Given the description of an element on the screen output the (x, y) to click on. 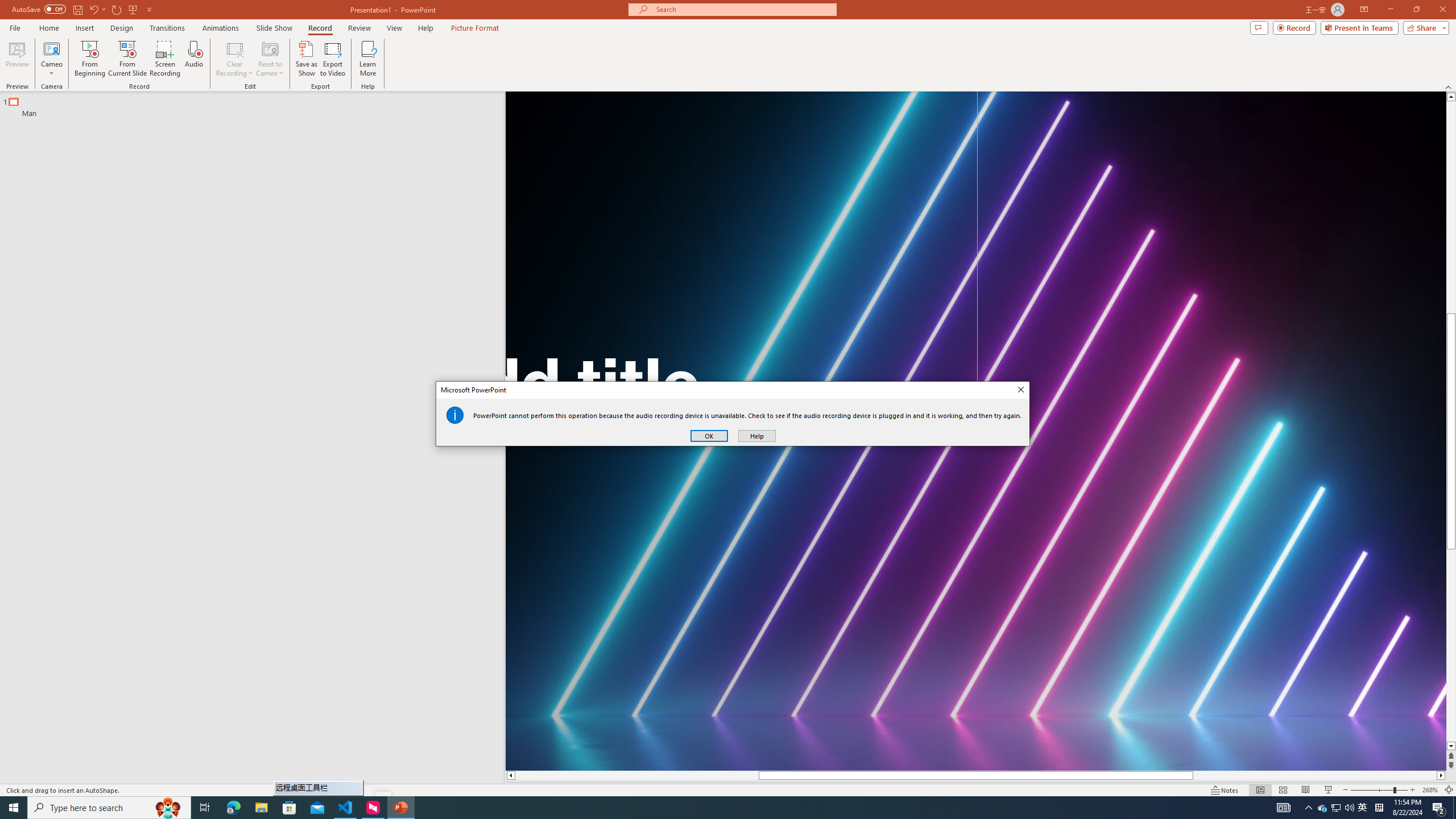
OK (1322, 807)
